Given the description of an element on the screen output the (x, y) to click on. 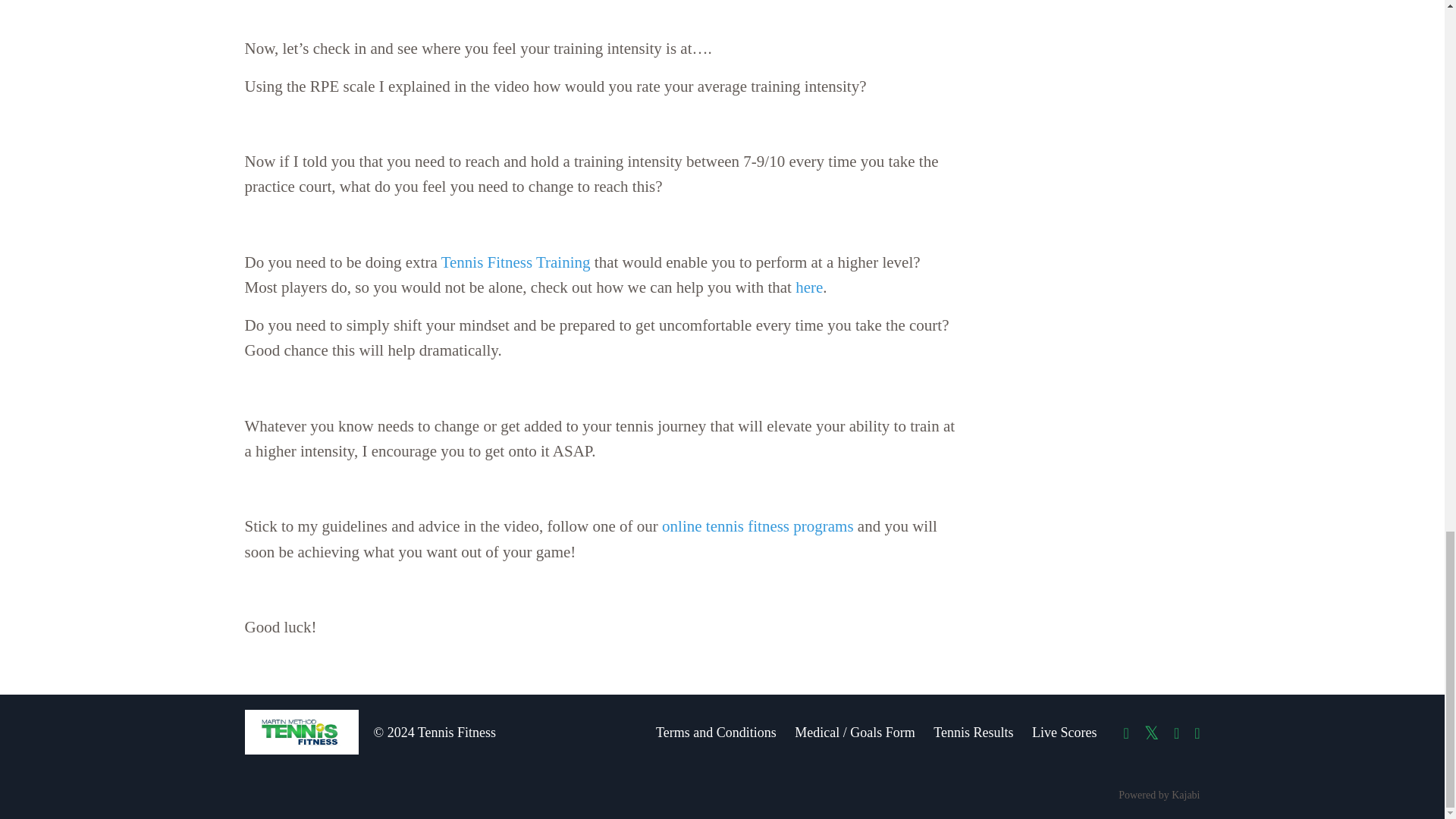
Tennis Fitness Training (516, 262)
here (808, 287)
Live Scores (1064, 732)
Terms and Conditions (716, 732)
Powered by Kajabi (1158, 794)
online tennis fitness programs (757, 525)
Tennis Results (973, 732)
